Given the description of an element on the screen output the (x, y) to click on. 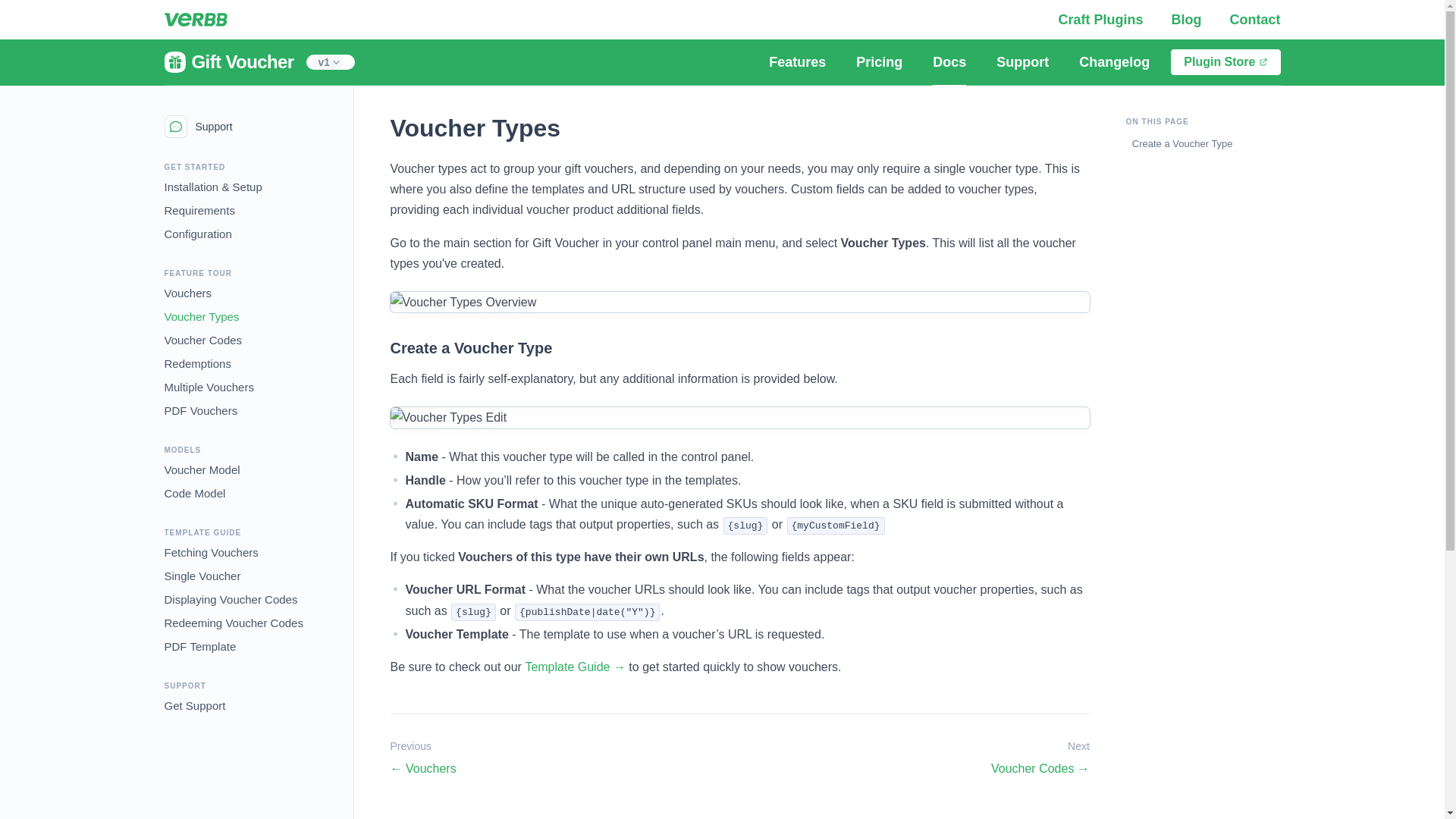
Contact (1255, 19)
Code Model (194, 490)
Pricing (879, 62)
Voucher Model (201, 467)
Support (1022, 62)
Voucher Types (200, 313)
PDF Template (199, 644)
Plugin Store (1224, 62)
Features (797, 62)
Changelog (1114, 62)
Voucher Codes (202, 337)
Blog (1187, 19)
Configuration (197, 231)
Requirements (198, 208)
Single Voucher (201, 573)
